Given the description of an element on the screen output the (x, y) to click on. 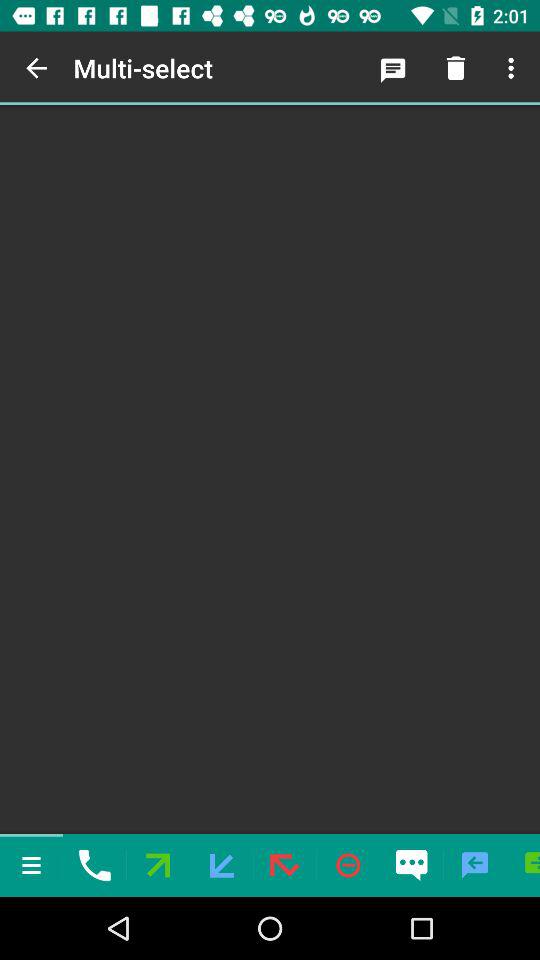
blank screen (270, 469)
